Given the description of an element on the screen output the (x, y) to click on. 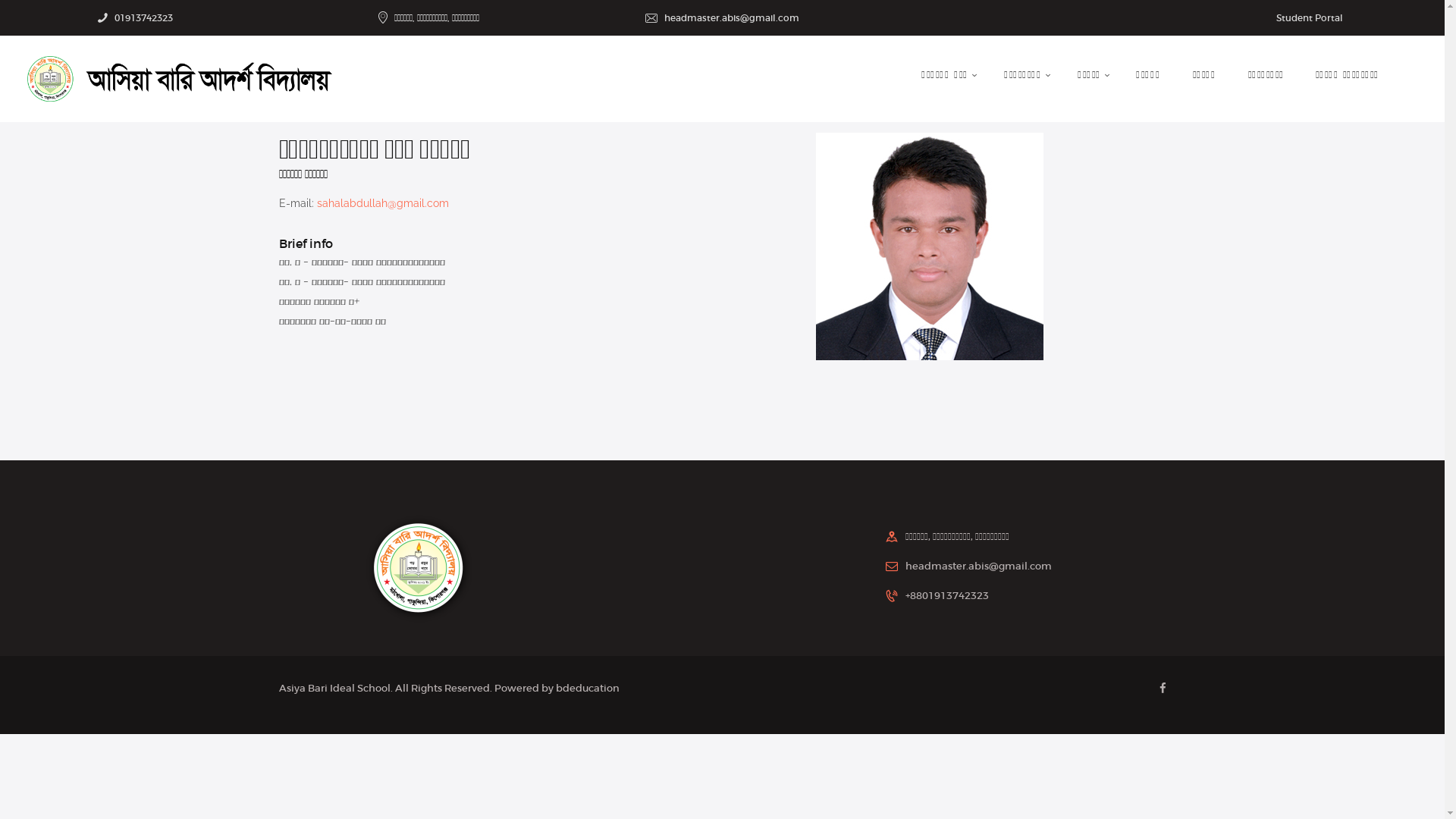
headmaster.abis@gmail.com Element type: text (731, 17)
01913742323 Element type: text (143, 17)
headmaster.abis@gmail.com Element type: text (978, 565)
sahalabdullah@gmail.com Element type: text (382, 203)
Student Portal Element type: text (1308, 17)
bdeducation Element type: text (586, 687)
+8801913742323 Element type: text (946, 595)
